Given the description of an element on the screen output the (x, y) to click on. 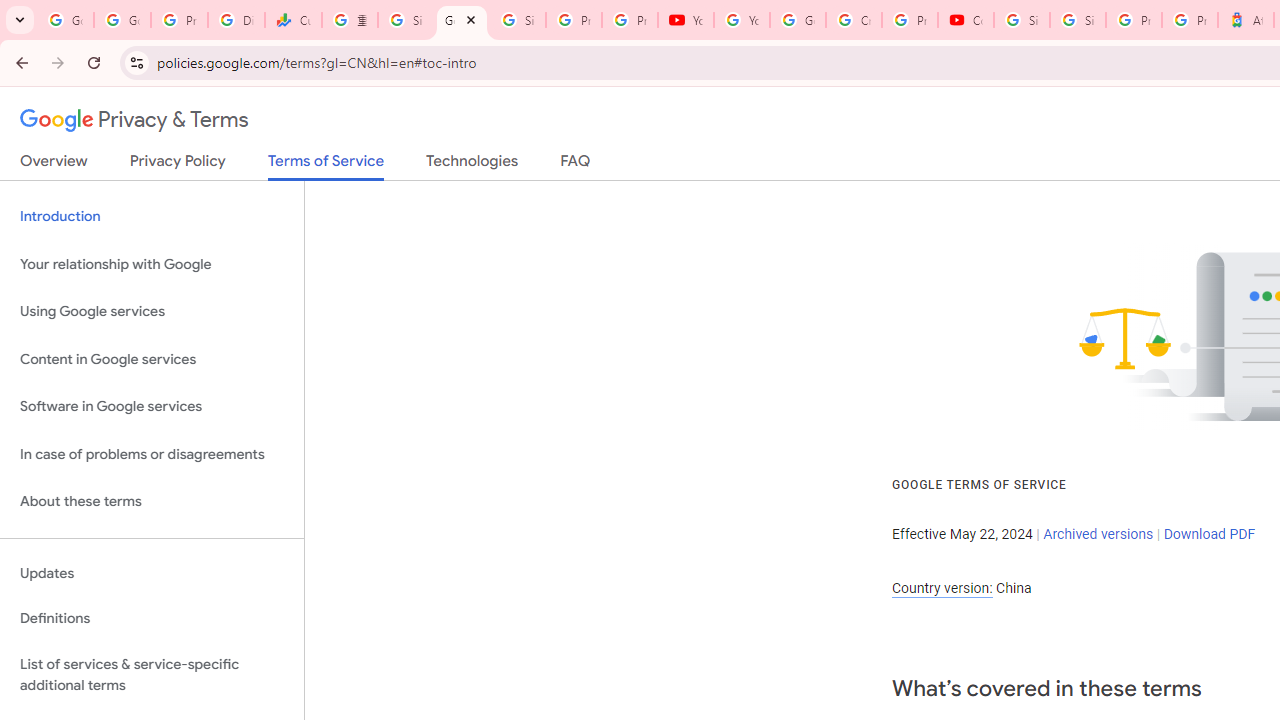
Software in Google services (152, 407)
YouTube (685, 20)
